Given the description of an element on the screen output the (x, y) to click on. 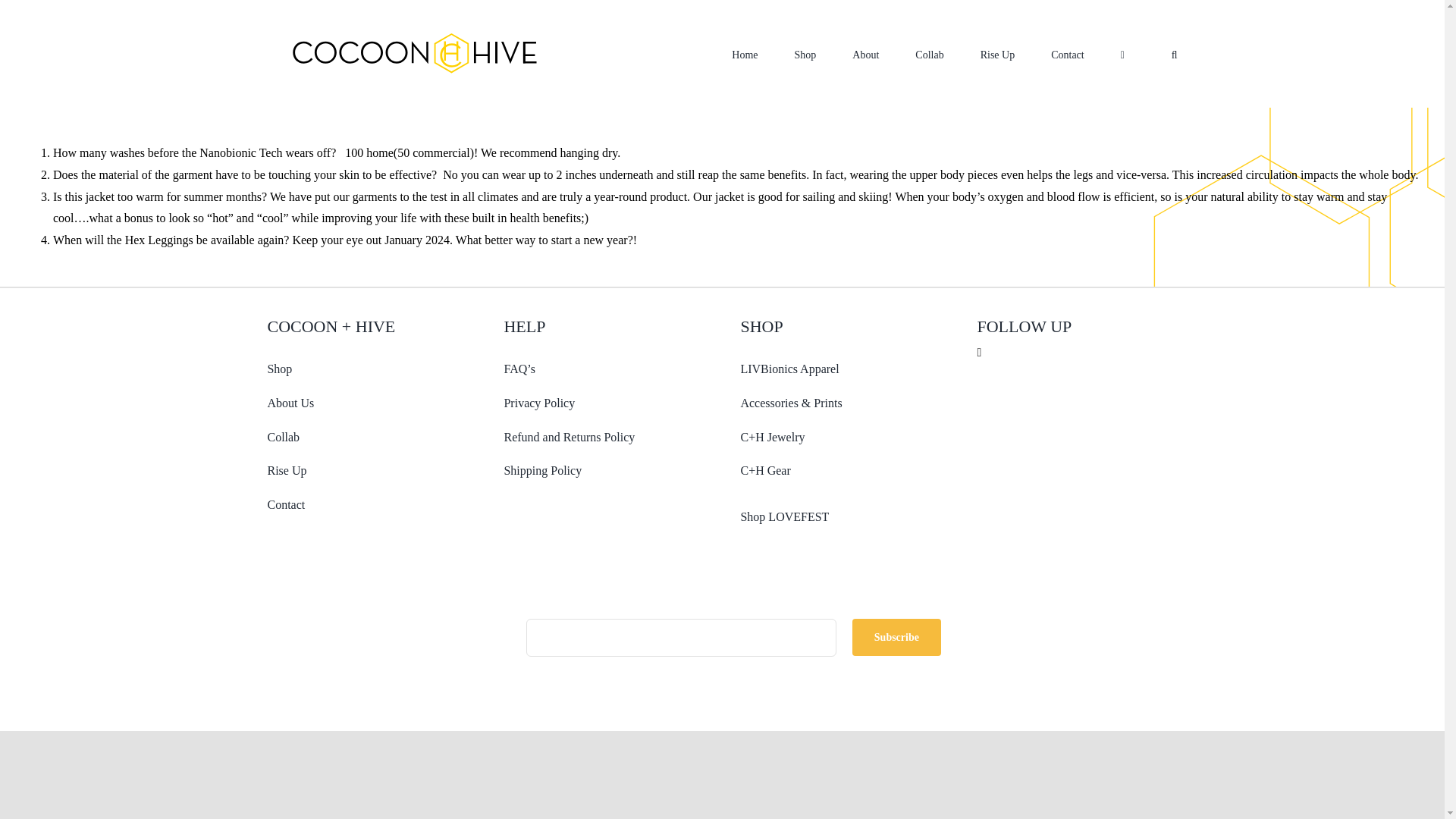
Collab (282, 436)
Contact (285, 504)
Shop (279, 368)
Rise Up (285, 470)
Shipping Policy (541, 470)
Privacy Policy (539, 402)
LIVBionics Apparel (788, 368)
Refund and Returns Policy (568, 436)
About Us (290, 402)
Subscribe (721, 649)
Shop LOVEFEST (783, 516)
